Given the description of an element on the screen output the (x, y) to click on. 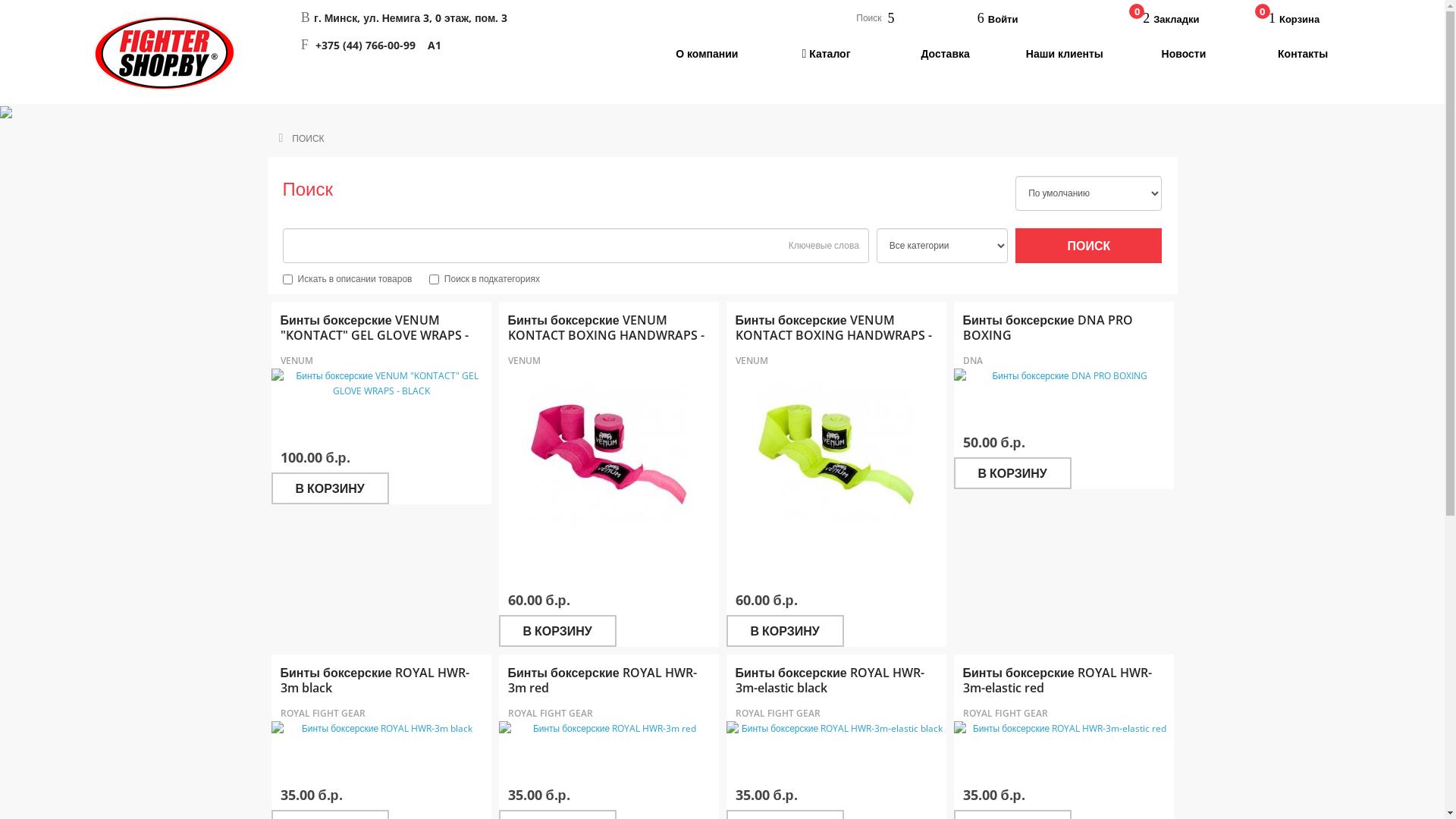
ROYAL FIGHT GEAR Element type: text (777, 712)
ROYAL FIGHT GEAR Element type: text (550, 712)
VENUM Element type: text (296, 360)
DNA Element type: text (972, 360)
VENUM Element type: text (751, 360)
ROYAL FIGHT GEAR Element type: text (1005, 712)
FIGHTERSHOP Element type: hover (164, 52)
VENUM Element type: text (523, 360)
ROYAL FIGHT GEAR Element type: text (322, 712)
